Given the description of an element on the screen output the (x, y) to click on. 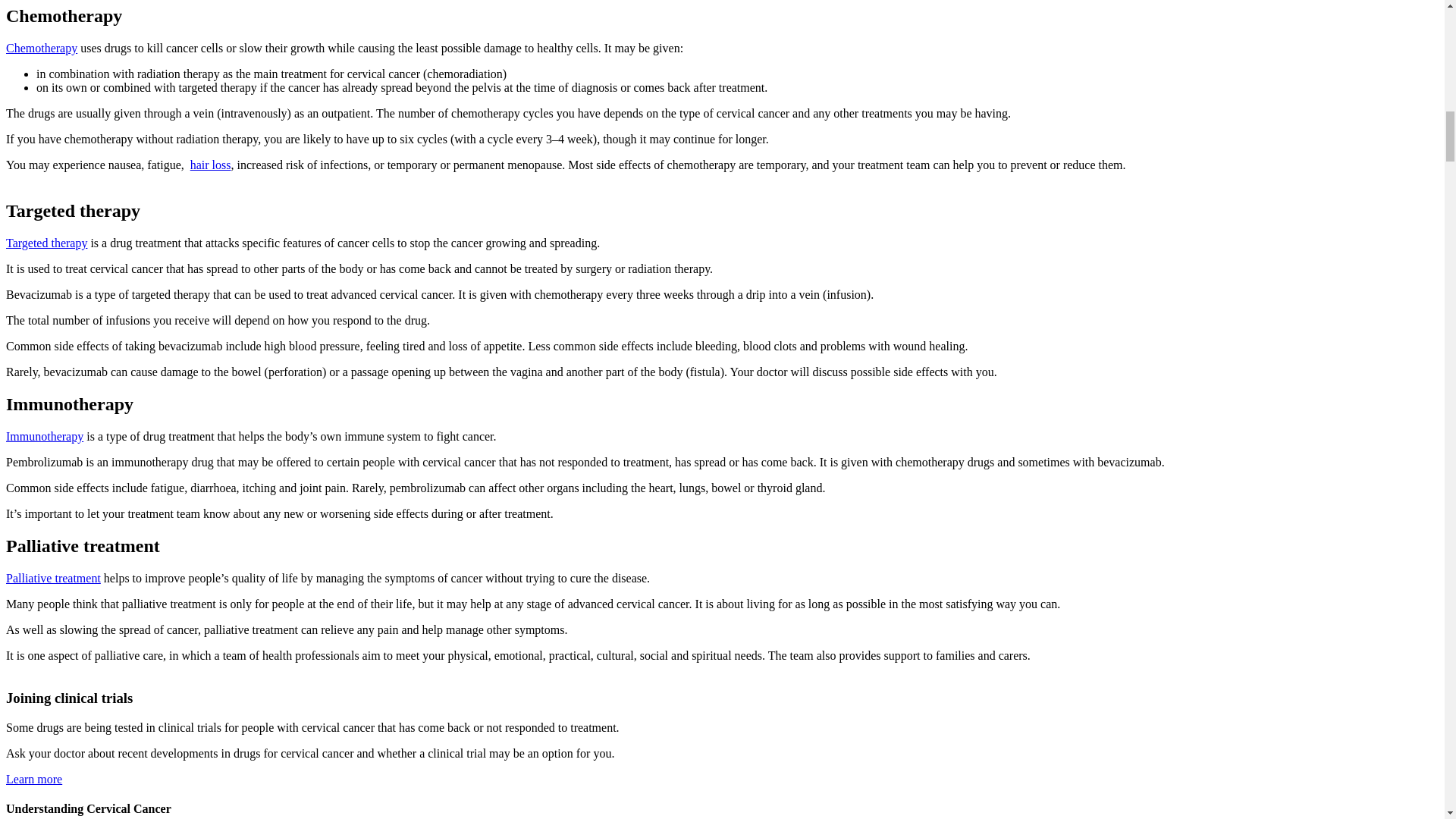
hair loss (210, 164)
Targeted therapy (46, 242)
Immunotherapy (43, 436)
Chemotherapy (41, 47)
